Given the description of an element on the screen output the (x, y) to click on. 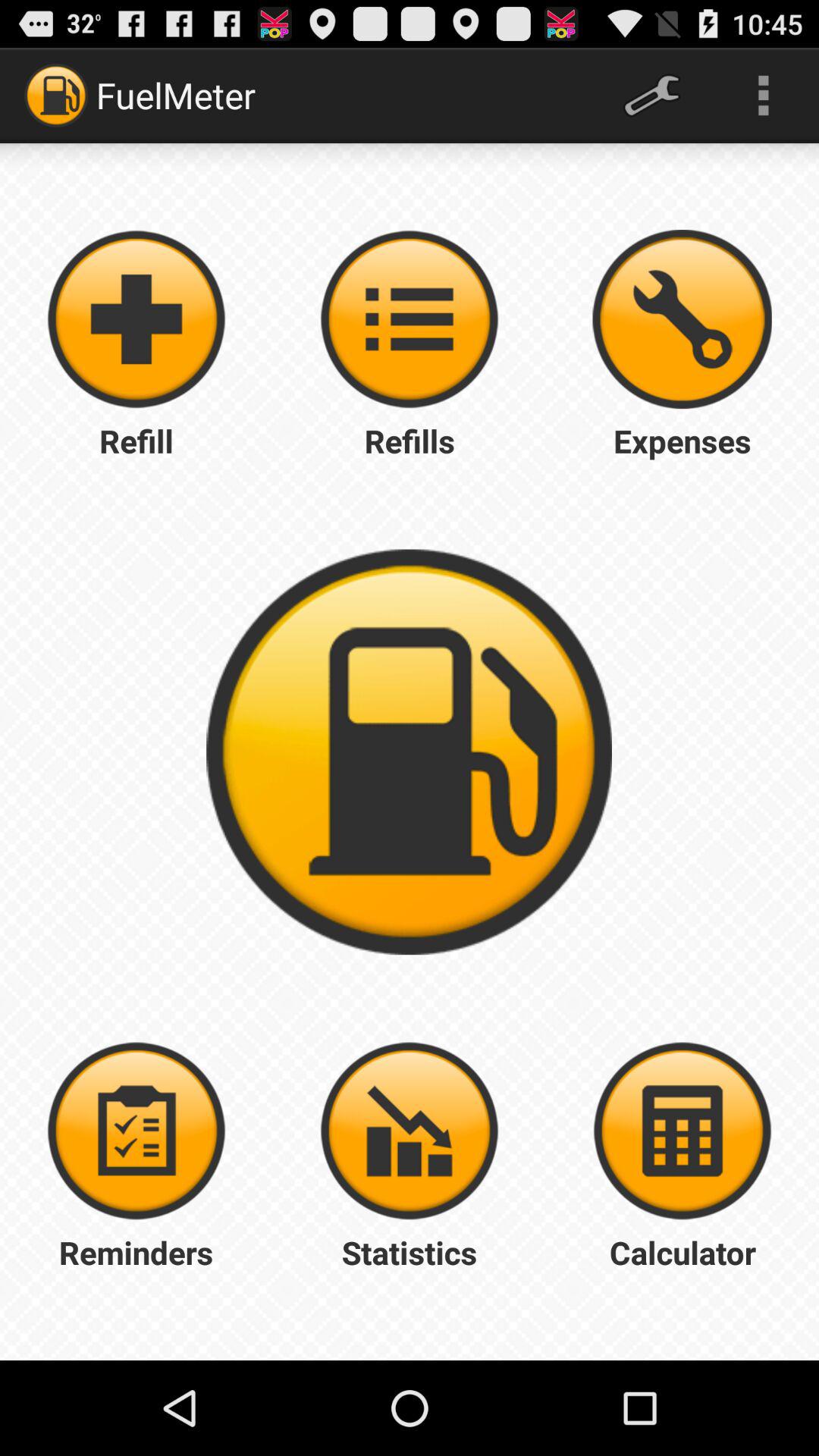
check my expenses (682, 318)
